Given the description of an element on the screen output the (x, y) to click on. 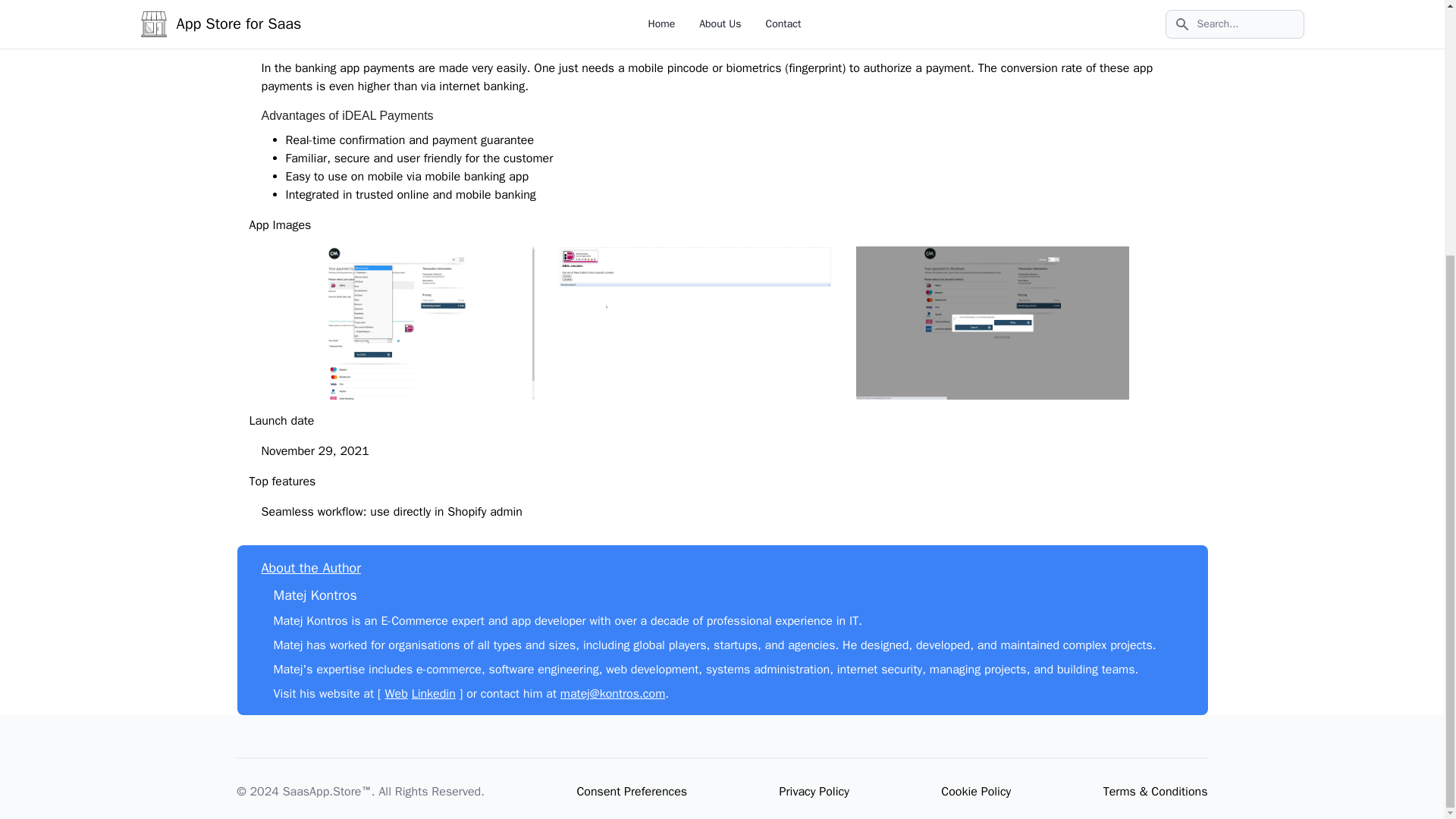
Cookie Policy (975, 791)
Consent Preferences (631, 791)
Privacy Policy (813, 791)
Linkedin (433, 693)
Web (395, 693)
Matej Kontros (314, 595)
